Given the description of an element on the screen output the (x, y) to click on. 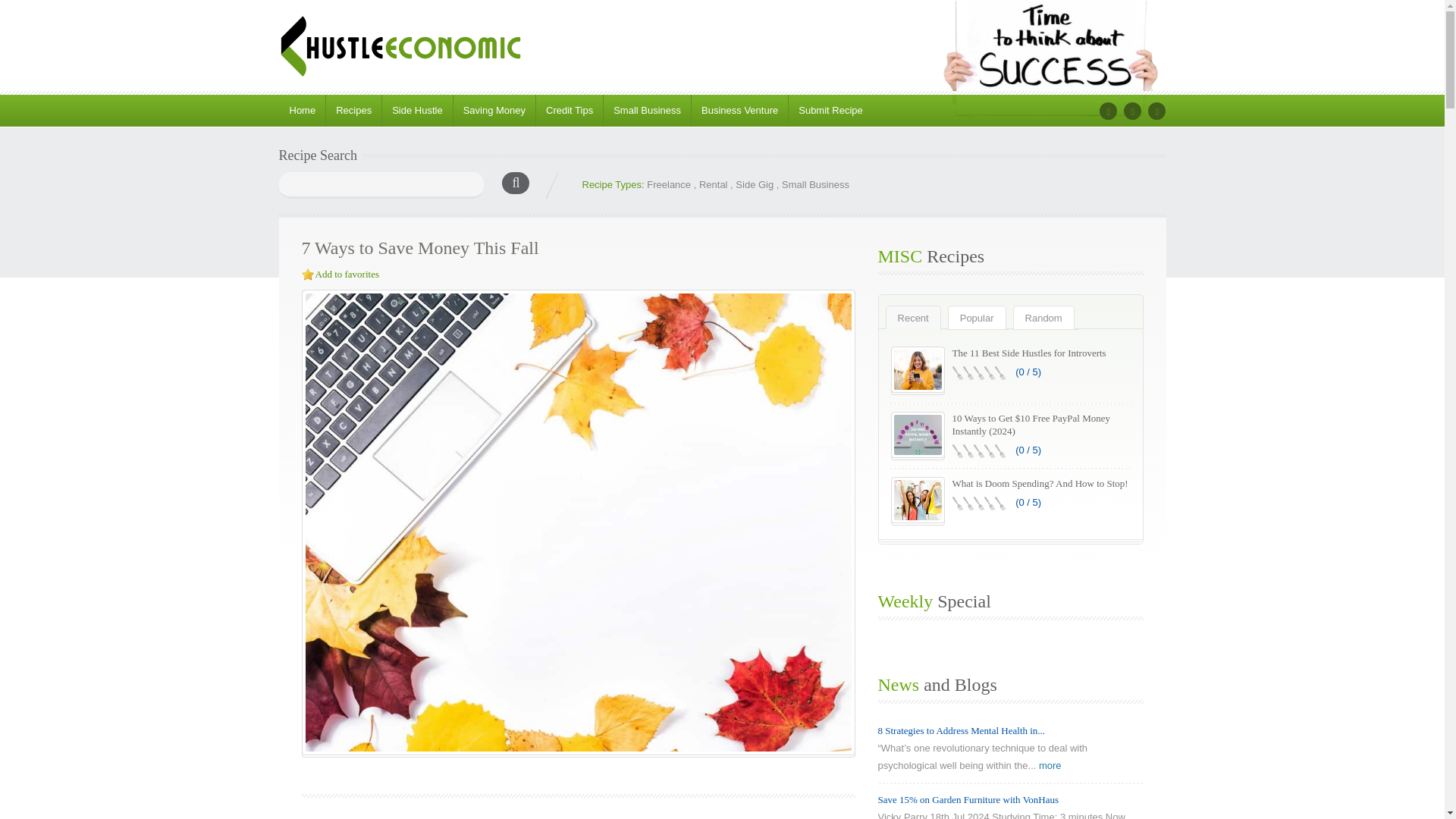
Rental (713, 184)
Add to favorites (346, 274)
Twitter (1132, 110)
Small Business (646, 110)
Side Hustle (416, 110)
Freelance (668, 184)
Side Gig (754, 184)
The 11 Best Side Hustles for Introverts (1029, 352)
Saving Money (493, 110)
Favorite (307, 274)
RSS (1157, 110)
Home (302, 110)
Add to favorites (346, 274)
Facebook (1107, 110)
